Given the description of an element on the screen output the (x, y) to click on. 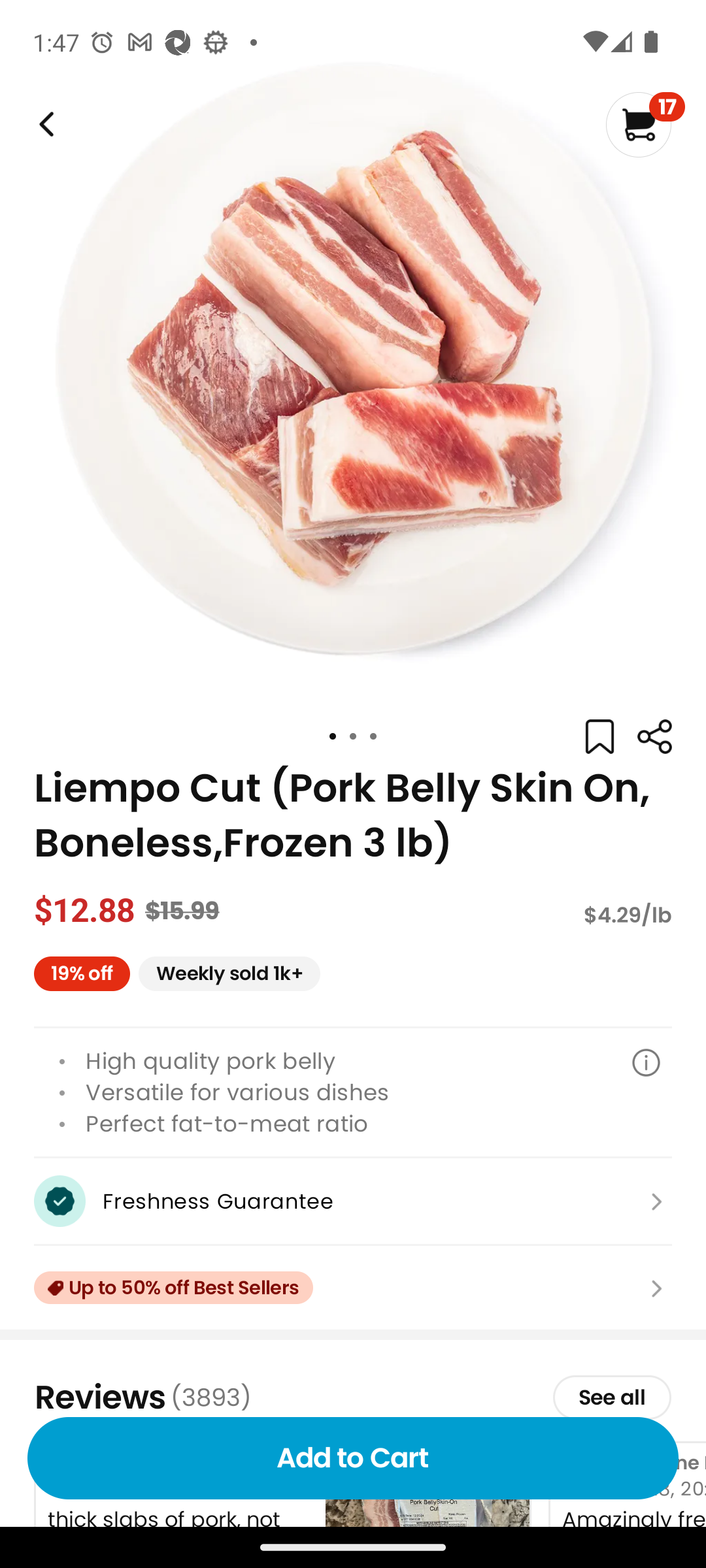
17 (644, 124)
Weee! (45, 124)
Weee! (653, 736)
Freshness Guarantee (352, 1200)
Up to 50% off Best Sellers (352, 1287)
Reviews (3893) See all (353, 1397)
Add to Cart (352, 1458)
